Given the description of an element on the screen output the (x, y) to click on. 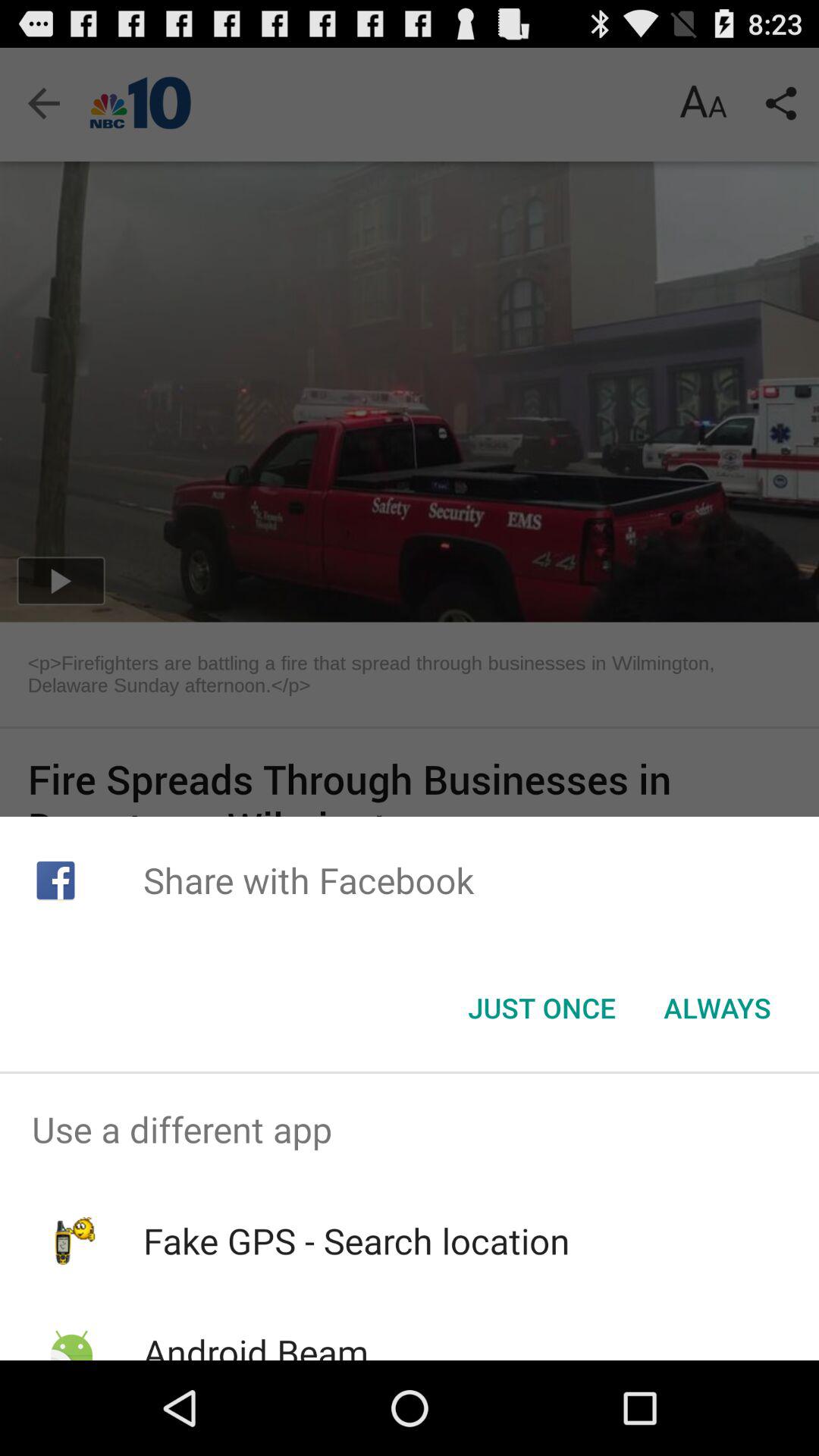
launch the item next to the always item (541, 1007)
